Given the description of an element on the screen output the (x, y) to click on. 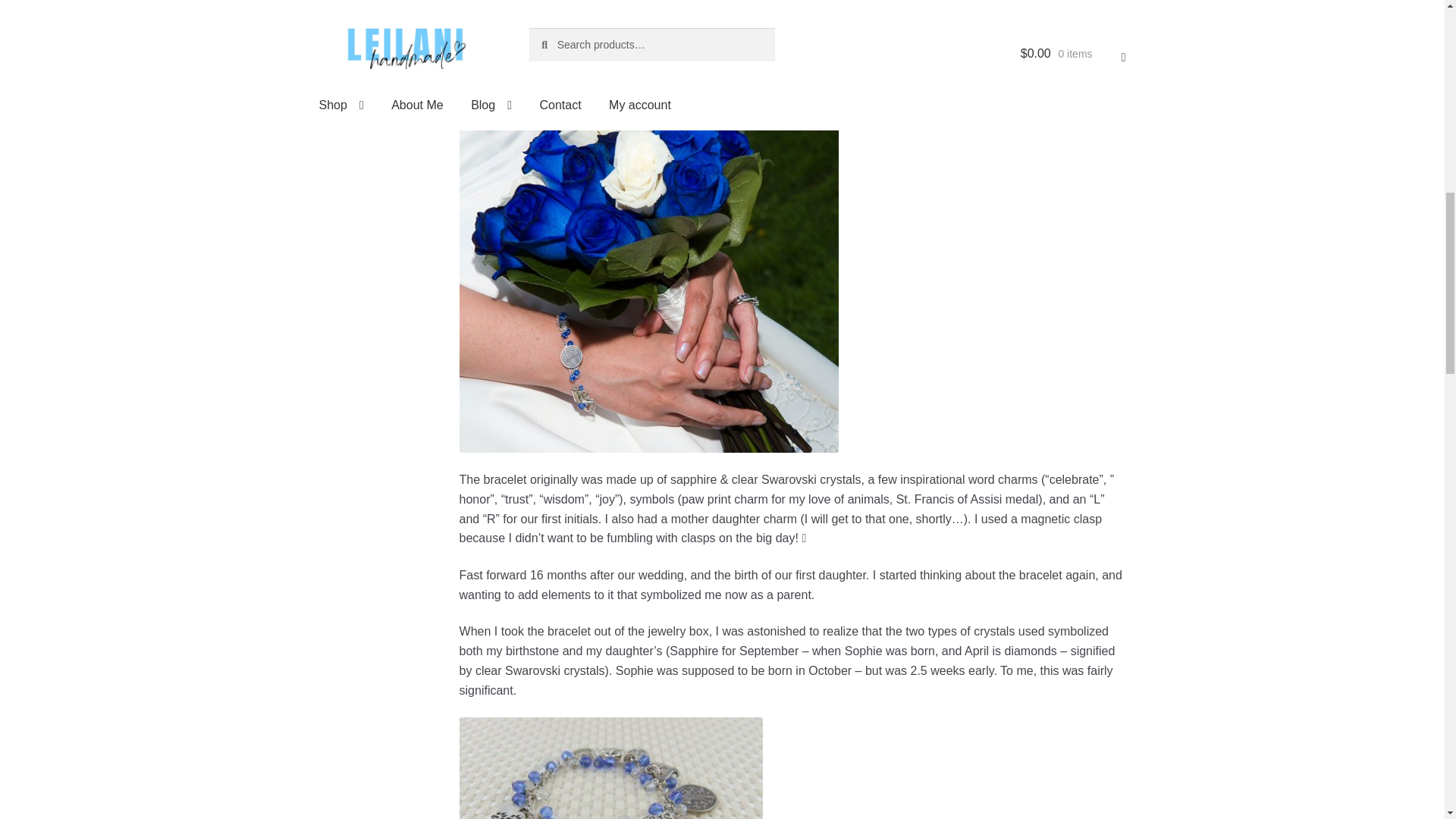
DSCF8285 (611, 768)
